Given the description of an element on the screen output the (x, y) to click on. 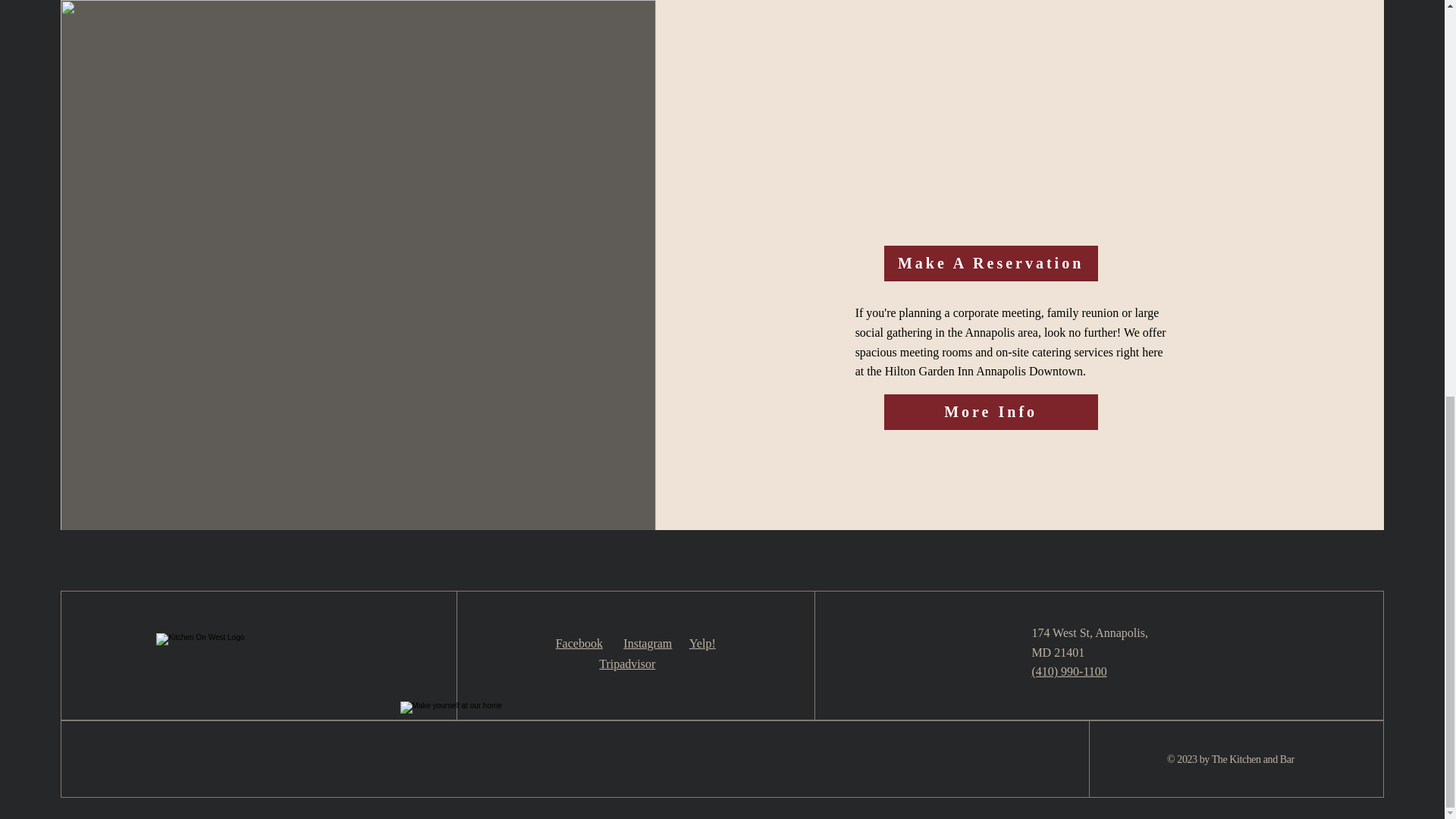
Yelp! (702, 643)
More Info (990, 411)
Make A Reservation (990, 263)
Tripadvisor (626, 663)
Facebook (579, 643)
Instagram (647, 643)
